Given the description of an element on the screen output the (x, y) to click on. 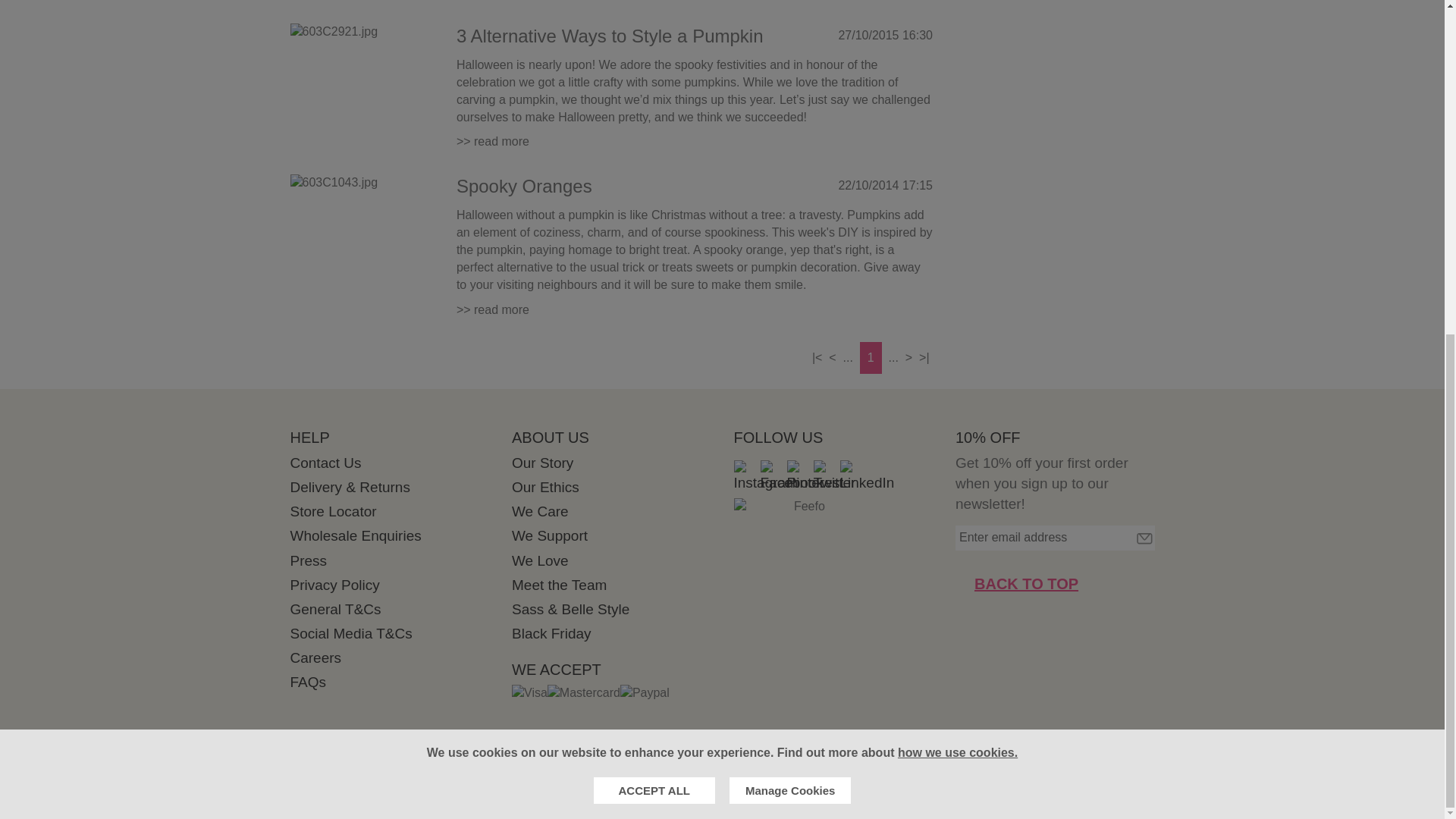
ACCEPT ALL (654, 232)
how we use cookies. (957, 194)
privacy (957, 194)
Manage Cookies (789, 232)
